Given the description of an element on the screen output the (x, y) to click on. 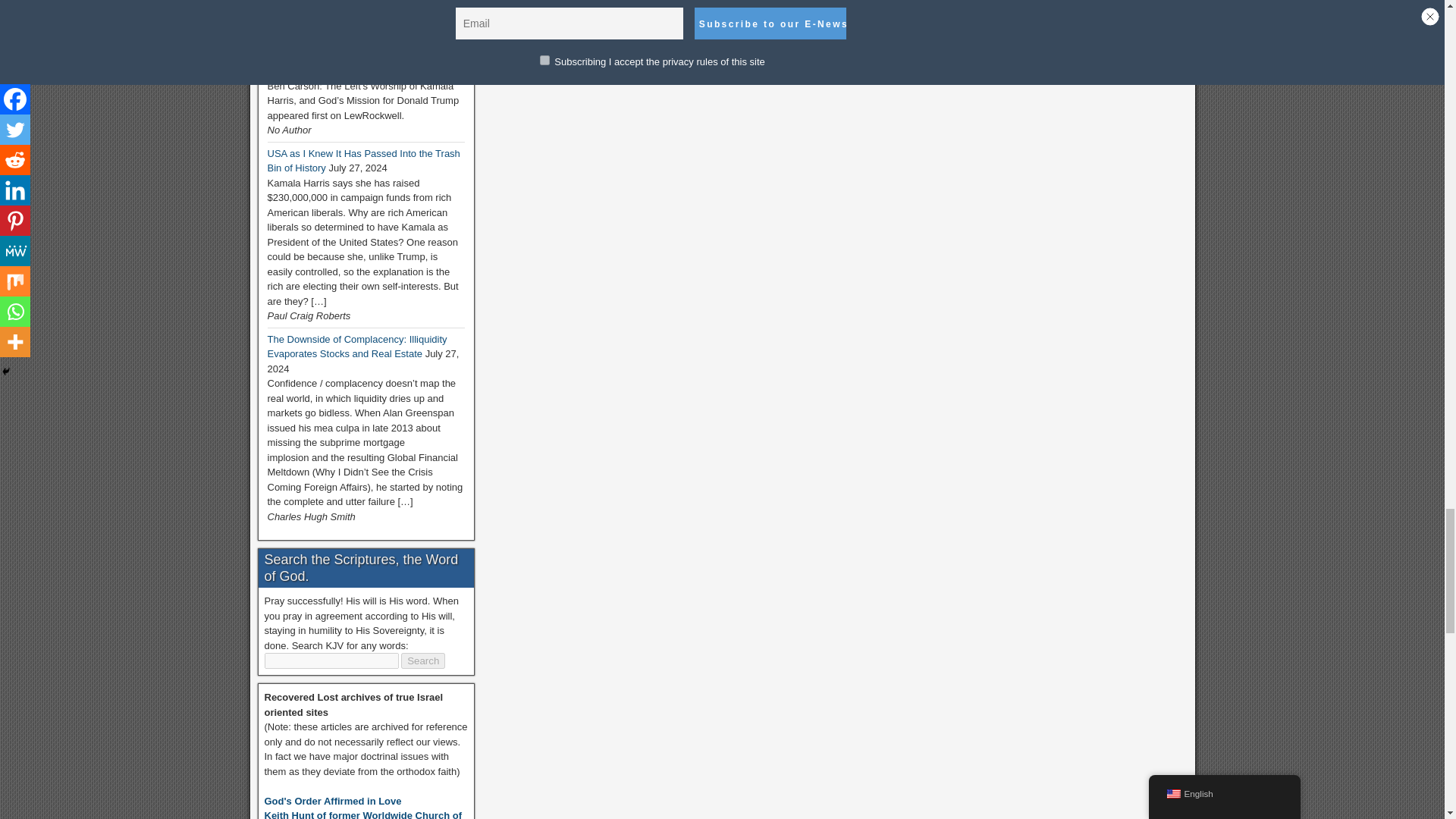
Search (423, 660)
